Given the description of an element on the screen output the (x, y) to click on. 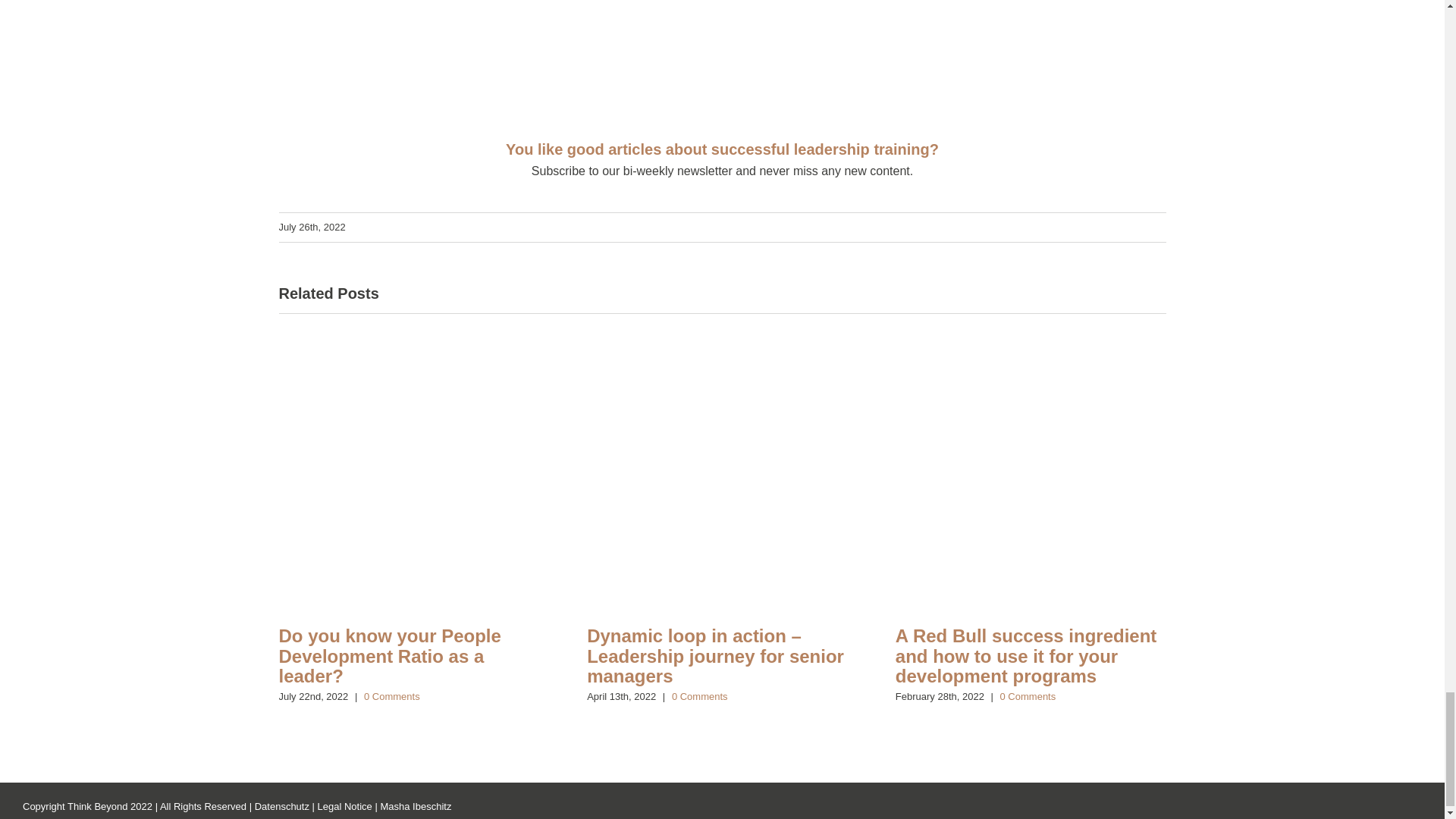
Do you know your People Development Ratio as a leader? (389, 655)
